Given the description of an element on the screen output the (x, y) to click on. 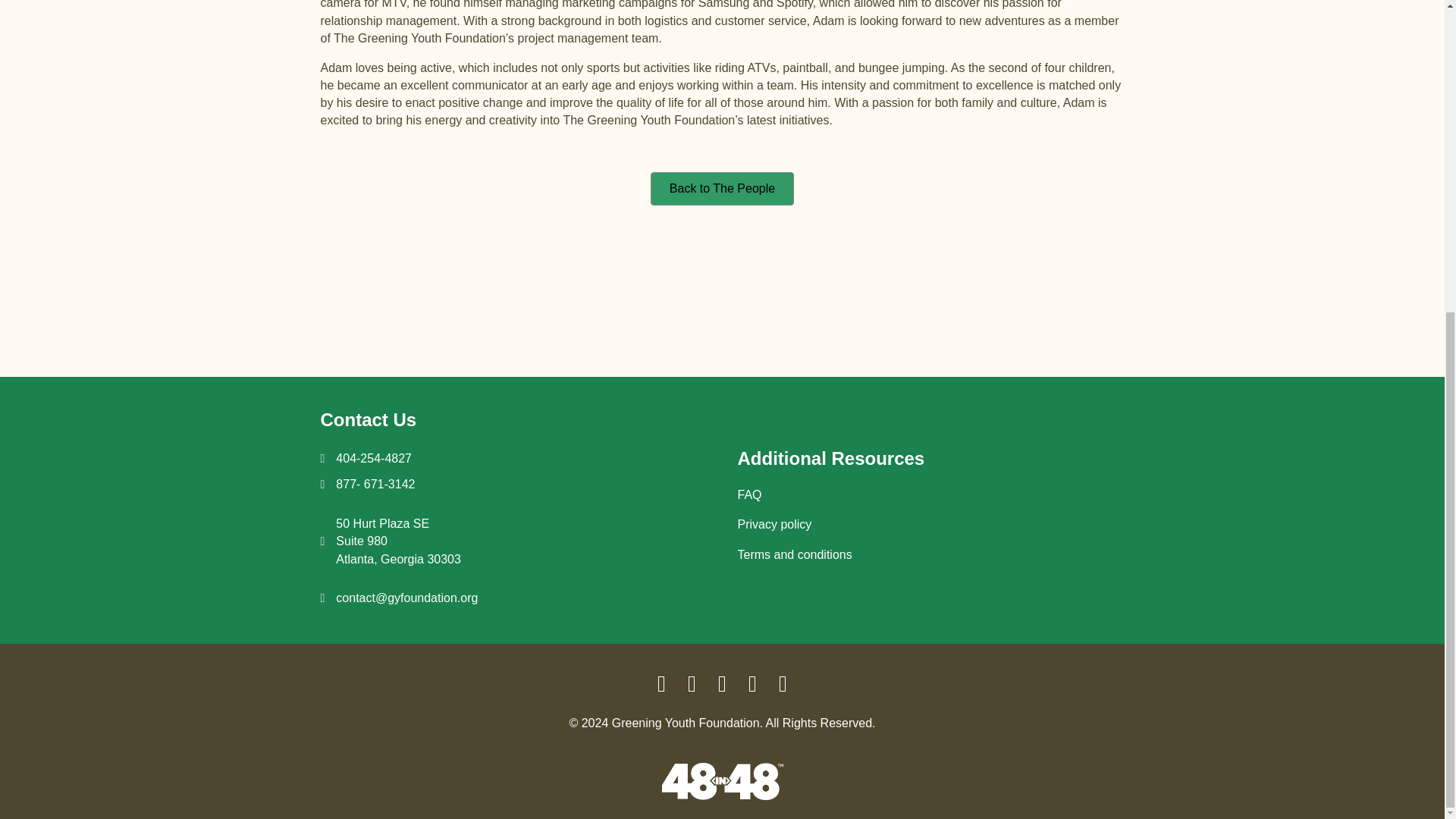
Back to The People (721, 188)
Terms and conditions (793, 554)
FAQ (748, 494)
youtube link (782, 684)
Privacy policy (398, 541)
